Given the description of an element on the screen output the (x, y) to click on. 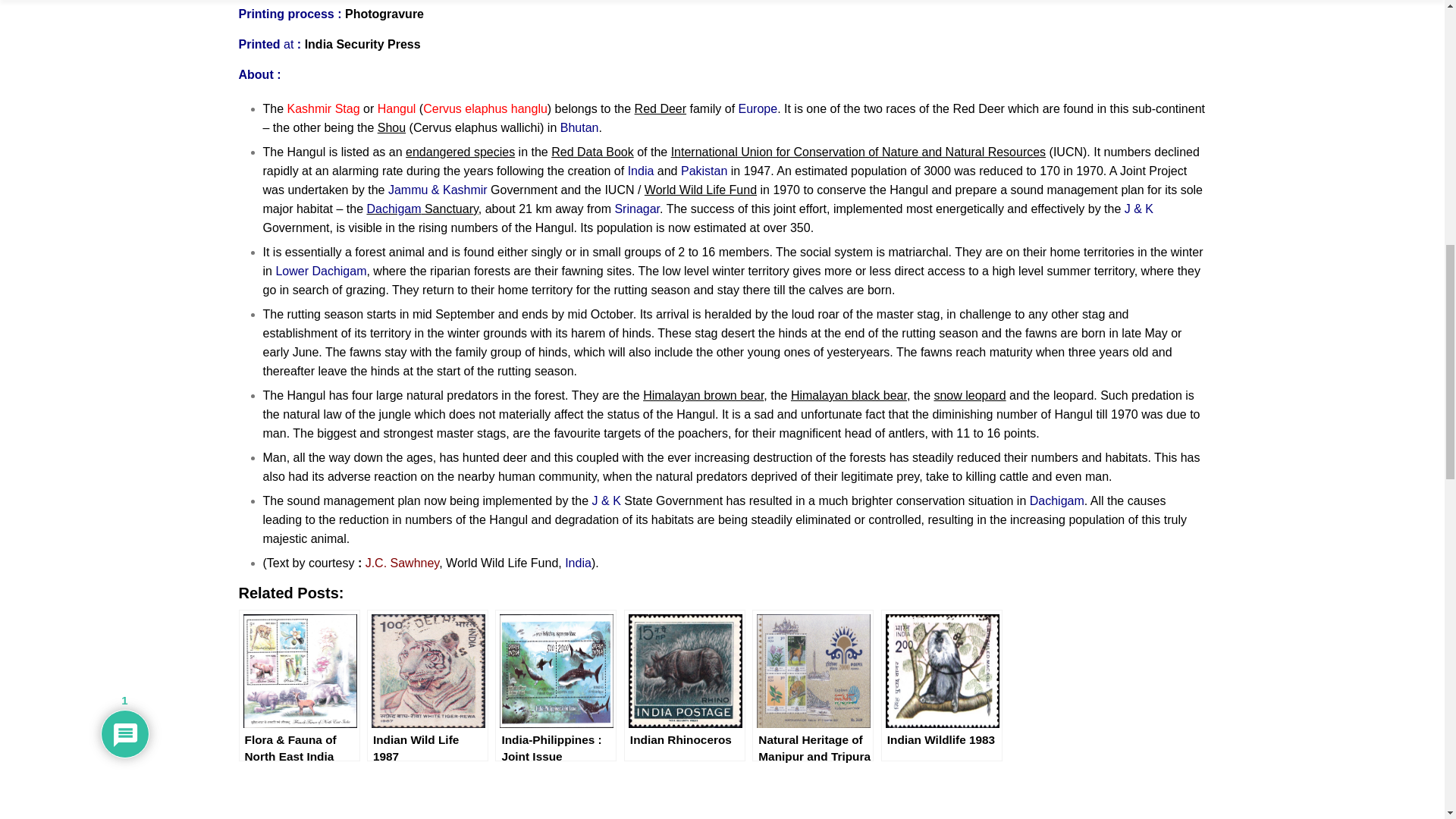
Shou (391, 127)
Red Data Book (592, 151)
snow leopard (969, 395)
Himalayan brown bear (702, 395)
World Wild Life Fund (701, 189)
Himalayan black bear (848, 395)
Dachigam Sanctuary (421, 208)
Red Deer (659, 108)
